Given the description of an element on the screen output the (x, y) to click on. 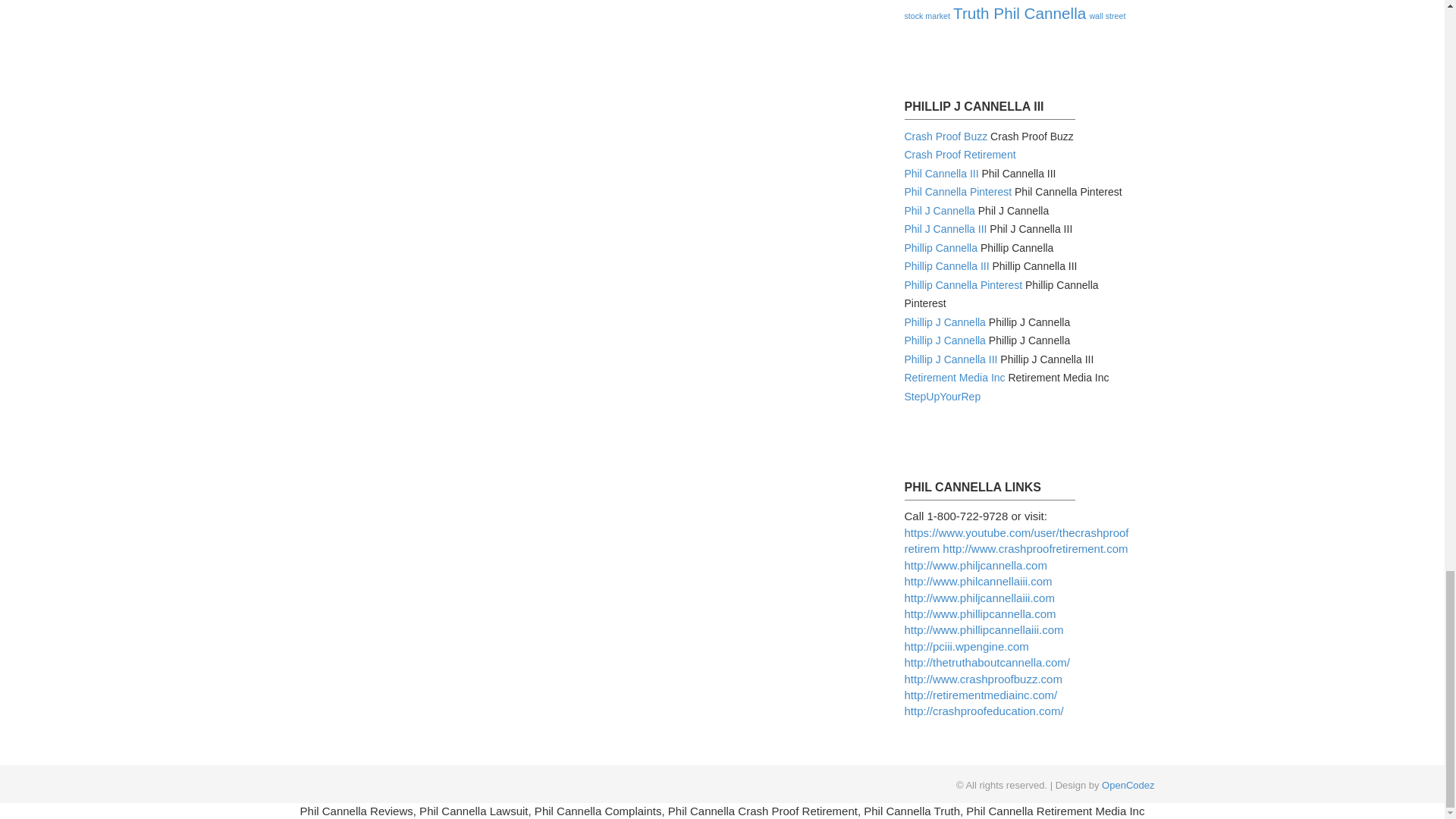
Phil J Cannella (939, 210)
Crash Proof Buzz (945, 136)
Phil Cannella Pinterest (957, 191)
Phil Cannella III (941, 173)
